Given the description of an element on the screen output the (x, y) to click on. 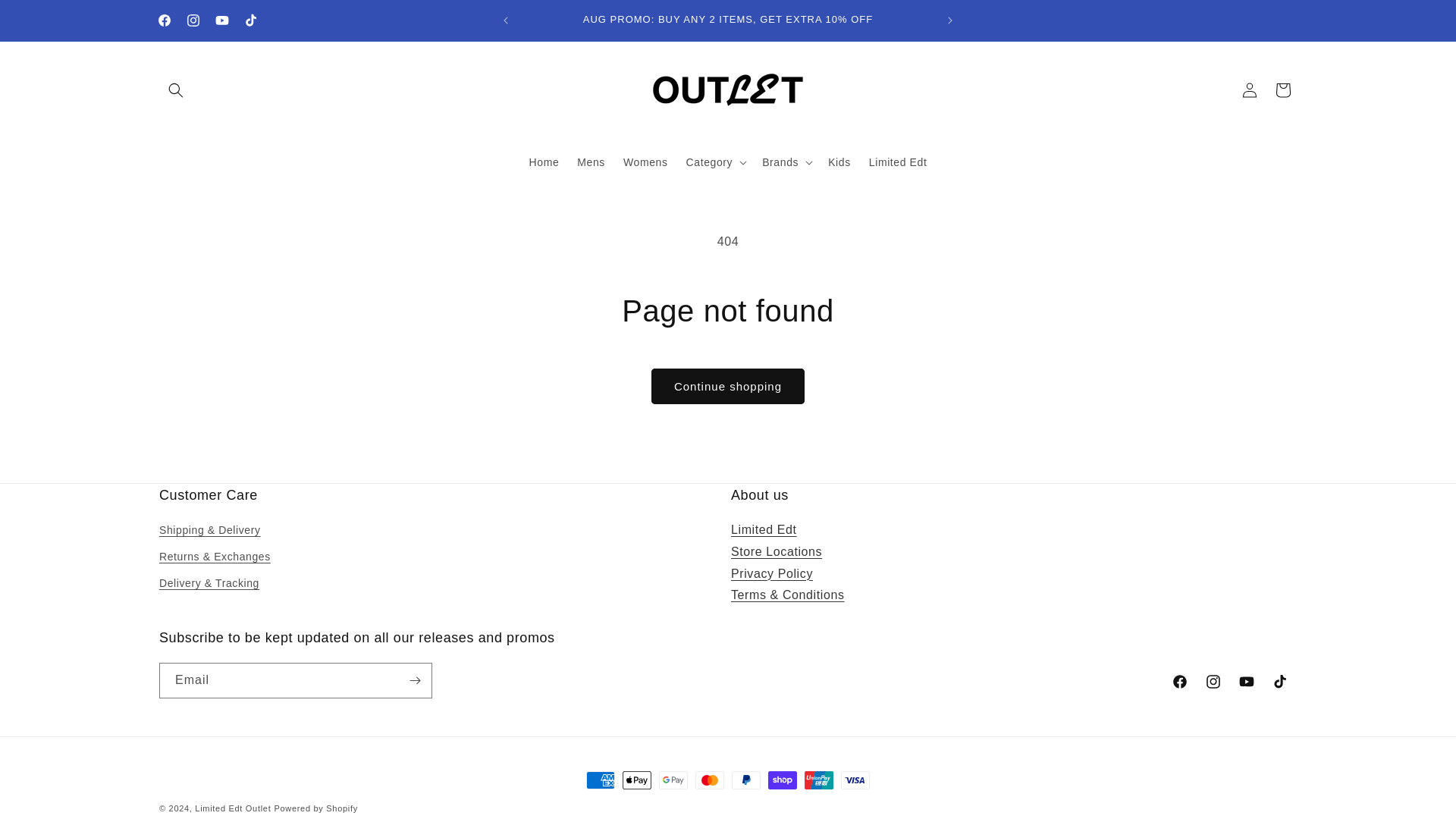
About Limited Edt (763, 529)
Instagram (193, 20)
Store Locations (776, 551)
Skip to content (45, 17)
TikTok (249, 20)
Privacy Policy (771, 573)
Facebook (164, 20)
YouTube (221, 20)
